Given the description of an element on the screen output the (x, y) to click on. 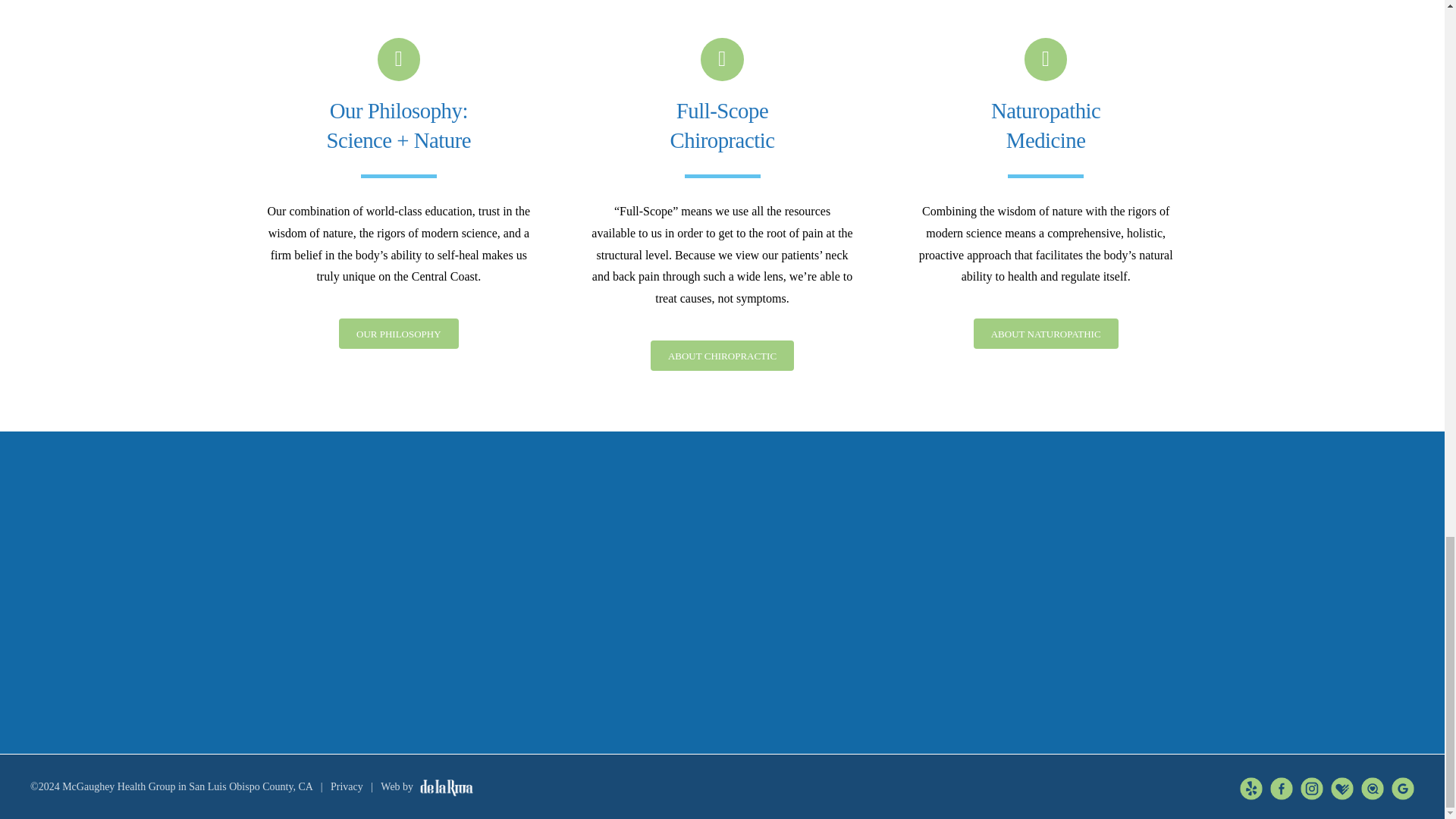
ABOUT CHIROPRACTIC (721, 355)
Instagram (1311, 779)
Sharecare (1372, 779)
McGaughey Health Group in San Luis Obispo County, CA (187, 786)
Healthgrades (1342, 779)
Facebook (1280, 779)
Yelp (1251, 779)
ABOUT NATUROPATHIC (1046, 333)
Google (1402, 779)
OUR PHILOSOPHY (398, 333)
